Given the description of an element on the screen output the (x, y) to click on. 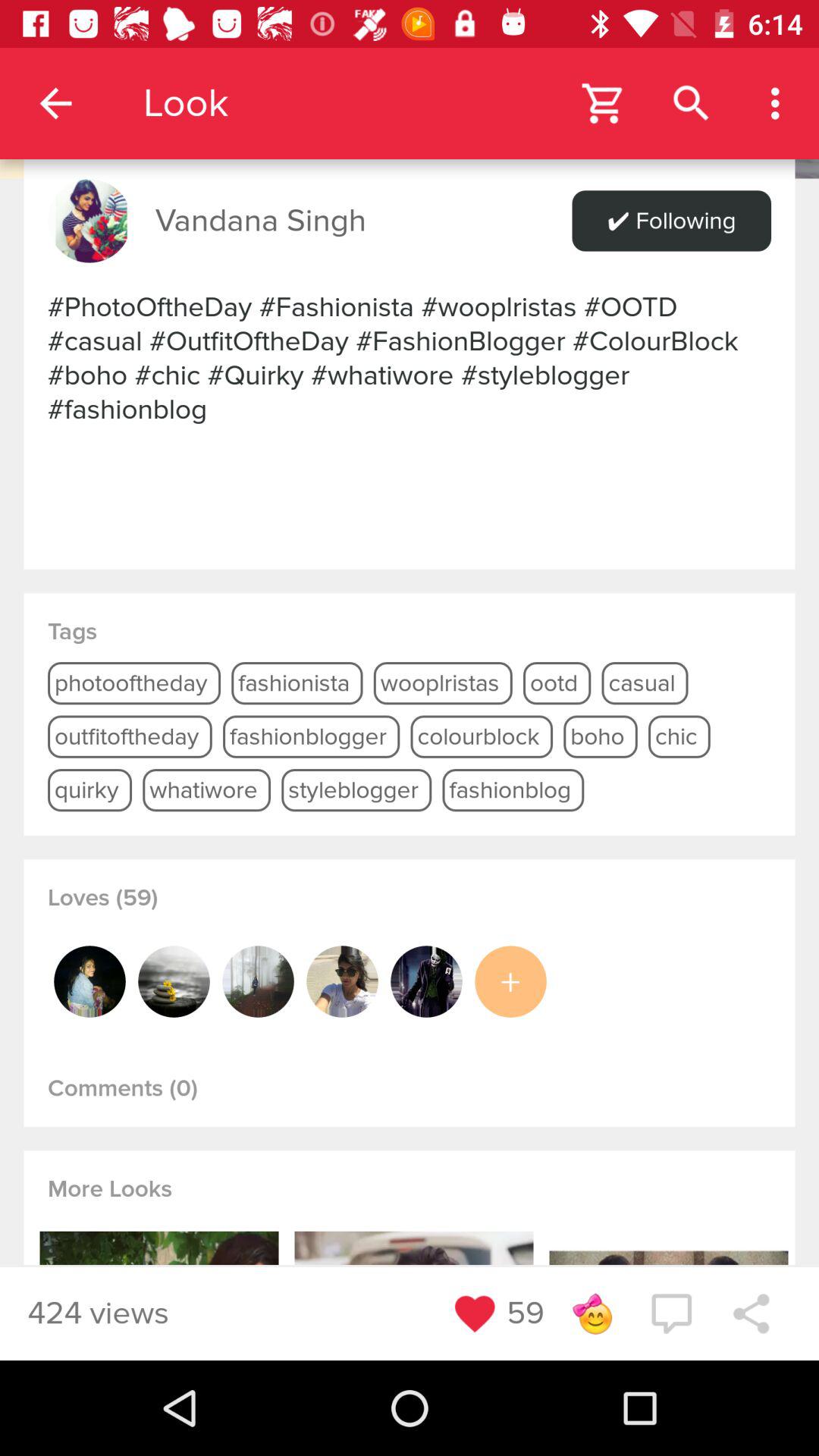
add a reaction to this profile (591, 1313)
